Given the description of an element on the screen output the (x, y) to click on. 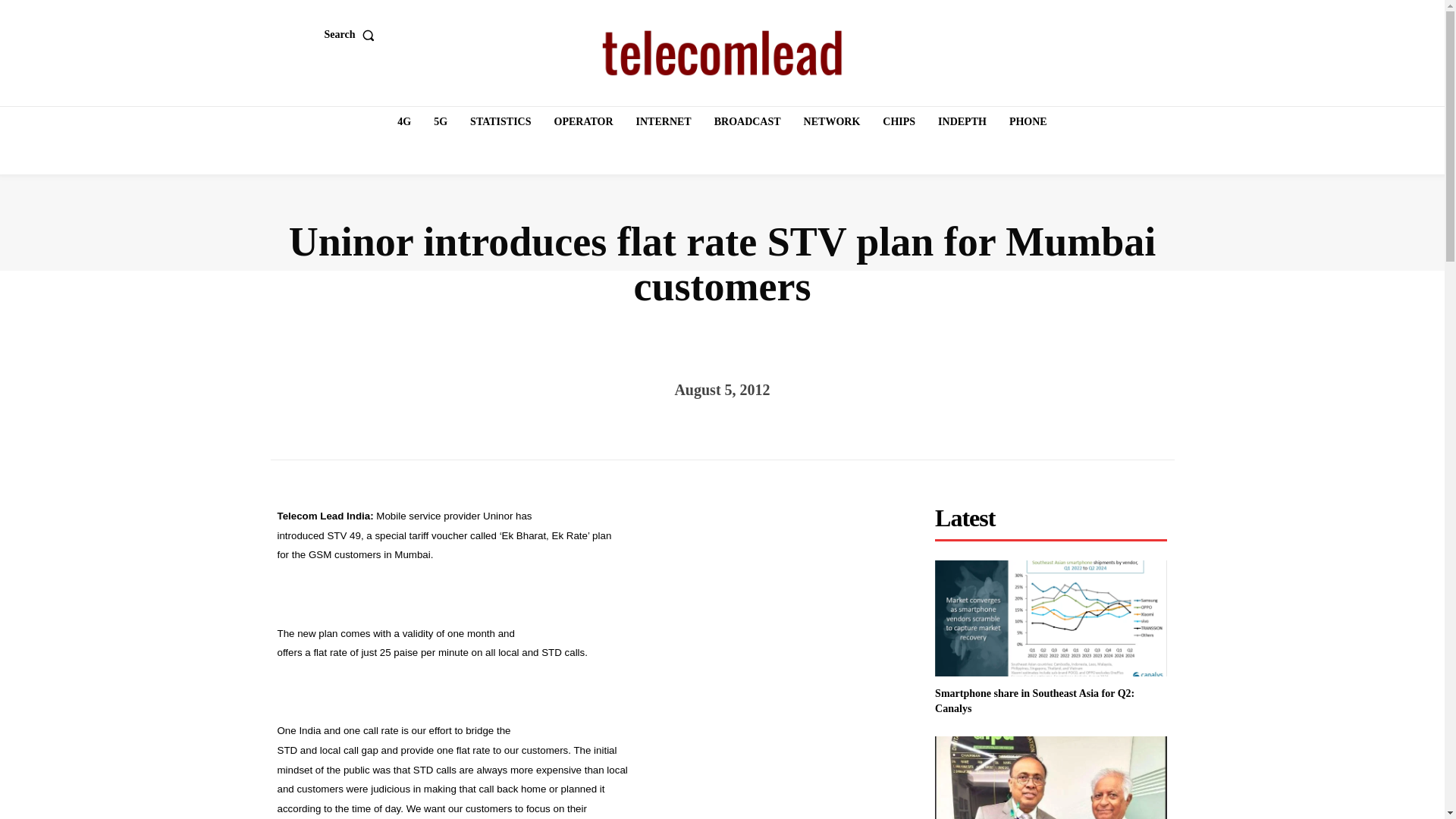
Smartphone share in Southeast Asia for Q2: Canalys (1034, 700)
INDEPTH (962, 122)
tl (722, 53)
INTERNET (663, 122)
Smartphone share in Southeast Asia for Q2: Canalys (1034, 700)
BROADCAST (747, 122)
PHONE (1027, 122)
STATISTICS (500, 122)
OPERATOR (584, 122)
5G (440, 122)
